Given the description of an element on the screen output the (x, y) to click on. 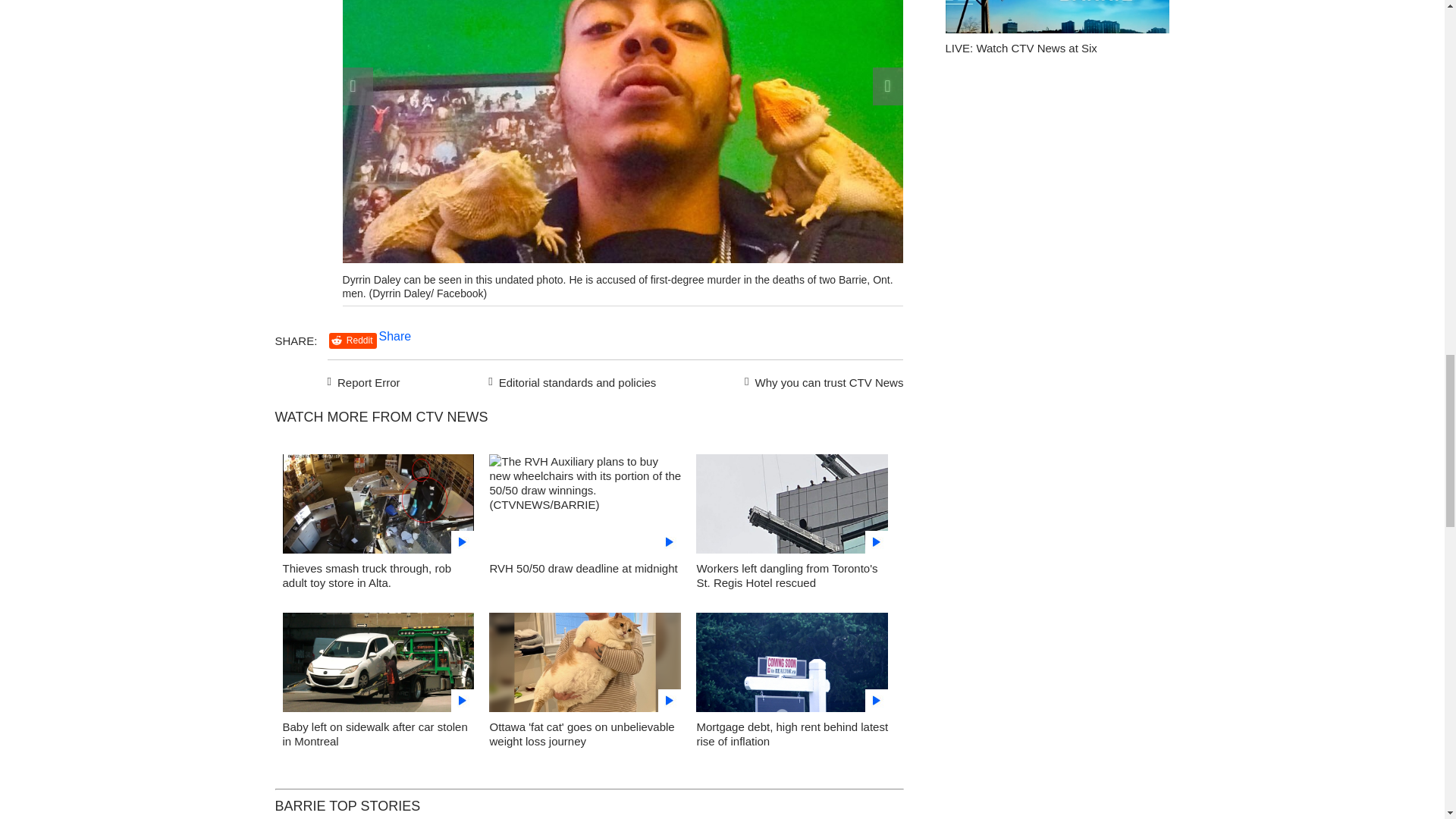
Barrie homicide (171, 363)
false (378, 503)
Mortgage debt, high rent behind latest rise of inflation (791, 733)
Barrie homicide (171, 183)
Report Error (363, 380)
Car stolen with baby inside (378, 666)
Share (395, 336)
false (585, 503)
Baby left on sidewalk after car stolen in Montreal (374, 733)
false (378, 661)
false (791, 661)
Editorial standards and policies (569, 380)
Source Adult Toys robbery (378, 507)
Workers left dangling from Toronto's St. Regis Hotel rescued (786, 574)
